Given the description of an element on the screen output the (x, y) to click on. 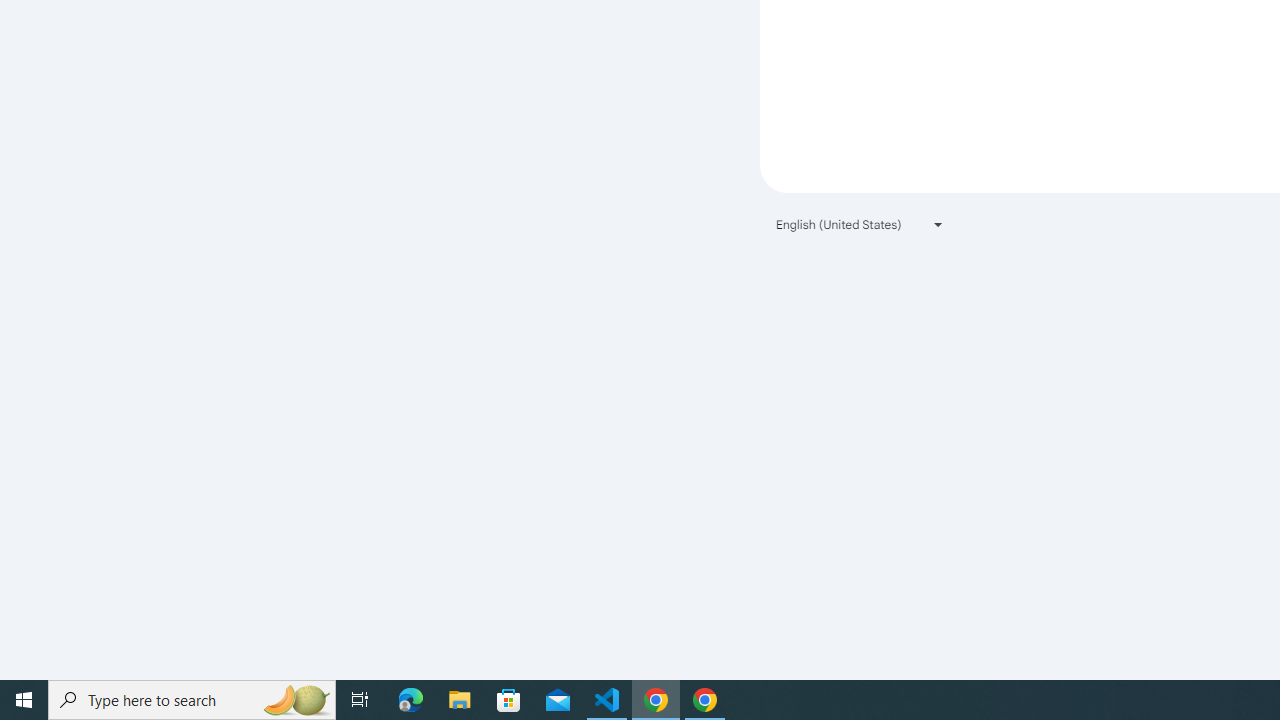
English (United States) (860, 224)
